Given the description of an element on the screen output the (x, y) to click on. 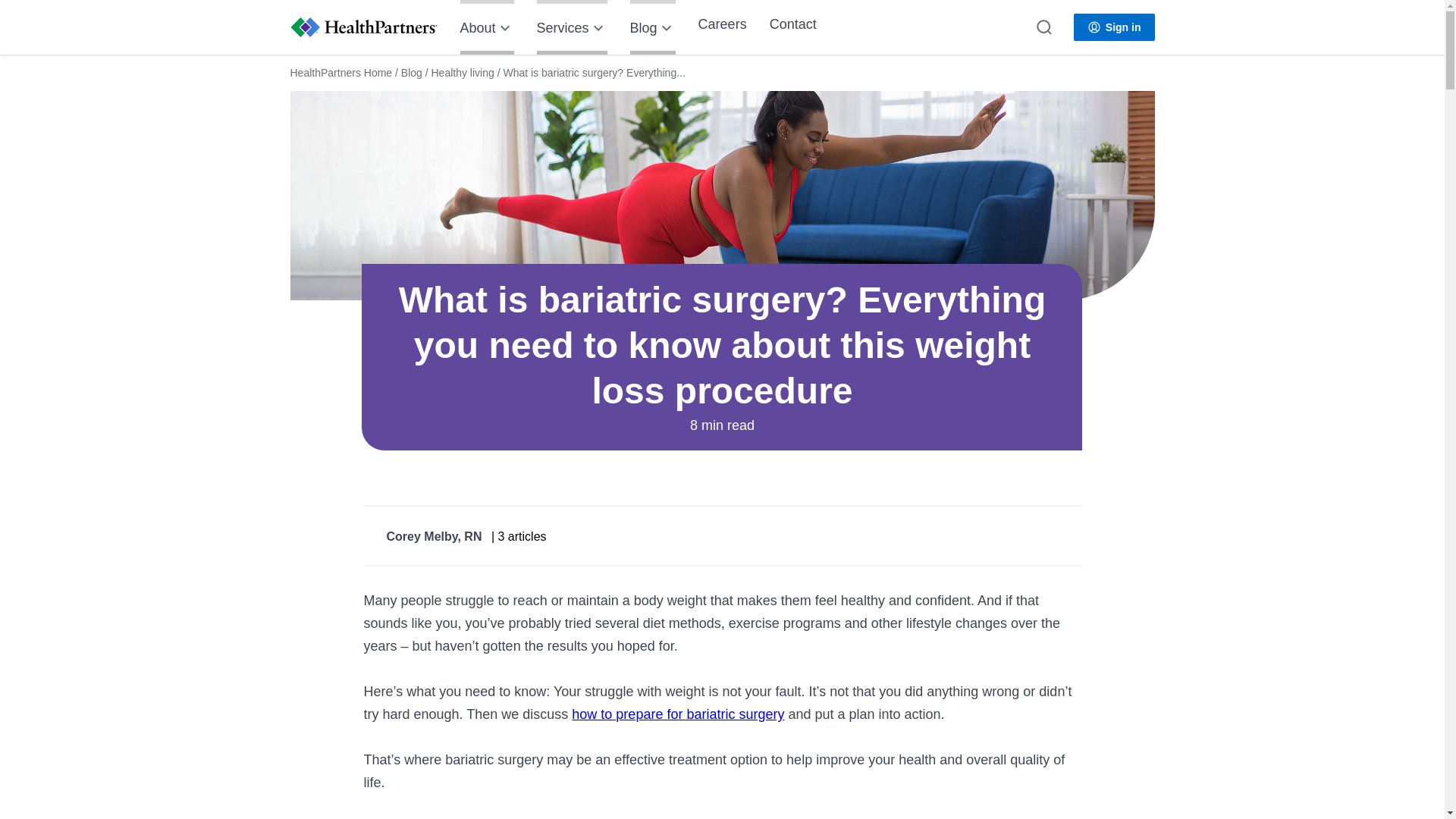
Blog (411, 72)
Sign in (1114, 26)
Services (572, 27)
About (486, 27)
HealthPartners Home (340, 72)
